Given the description of an element on the screen output the (x, y) to click on. 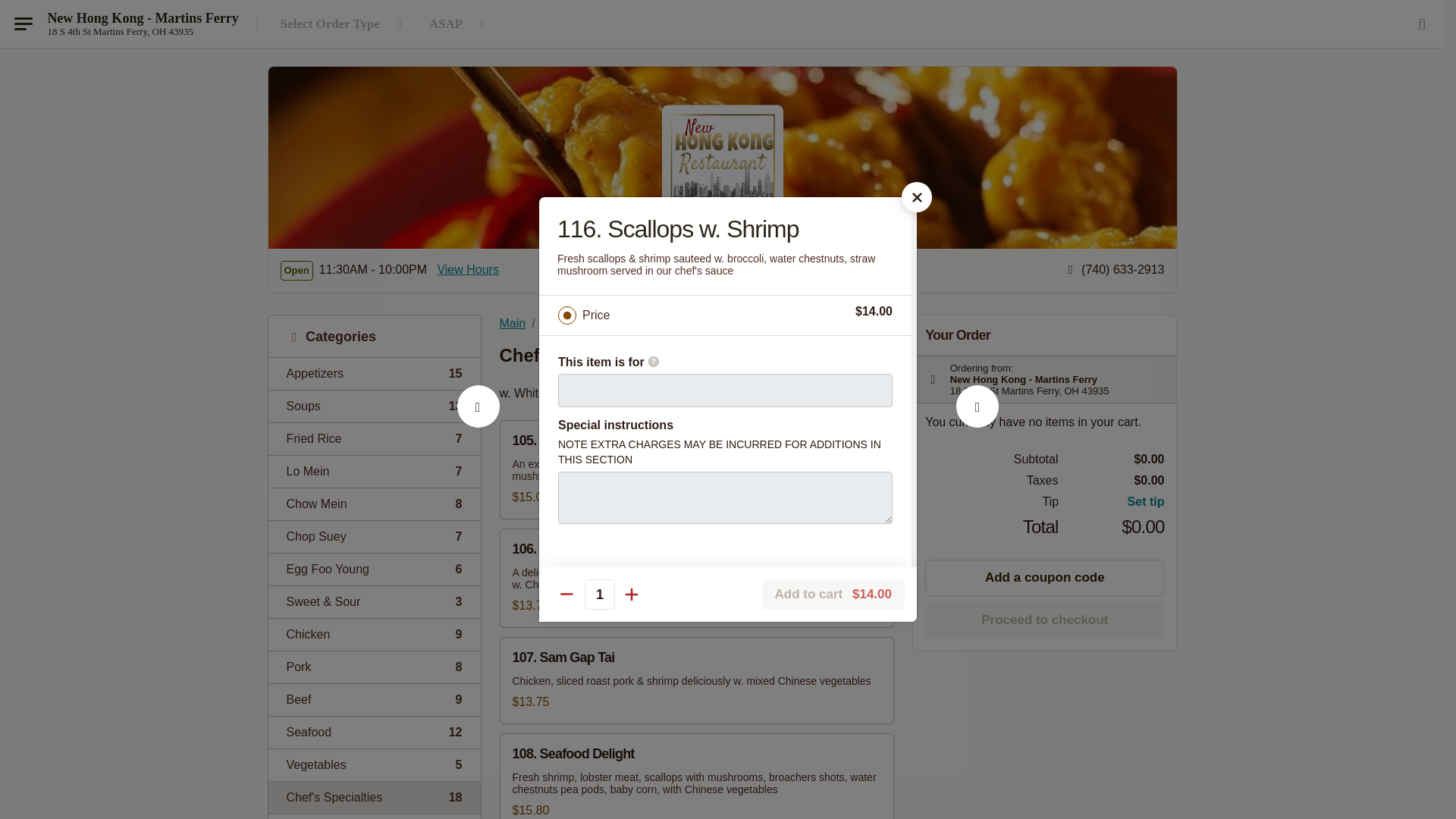
ASAP (460, 23)
Select Order Type (344, 23)
Add tip (1112, 501)
New Hong Kong - Martins Ferry (373, 373)
1 (373, 731)
115. Lake Tung Ting Shrimp (142, 17)
